Given the description of an element on the screen output the (x, y) to click on. 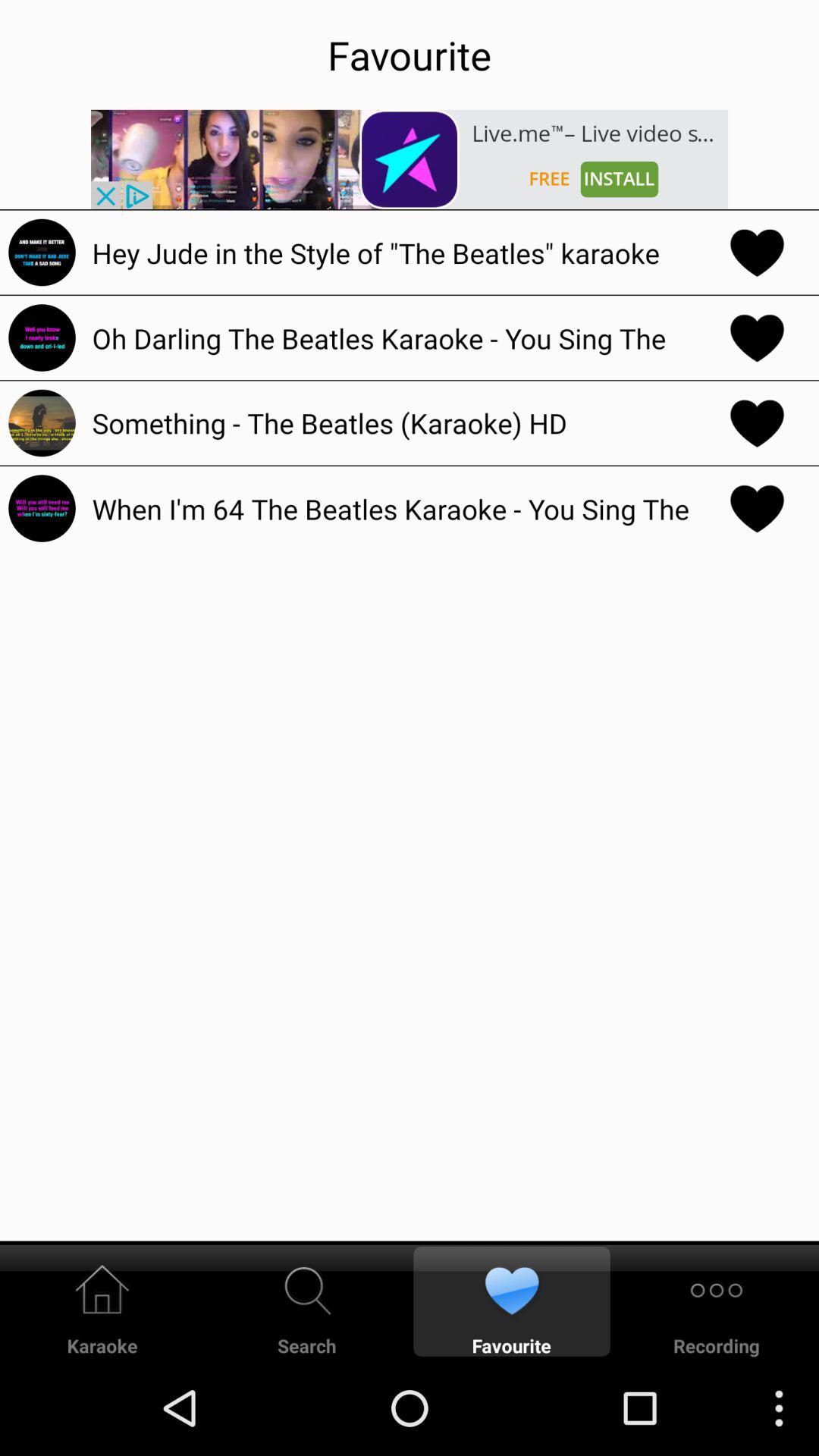
favourite song (756, 337)
